Given the description of an element on the screen output the (x, y) to click on. 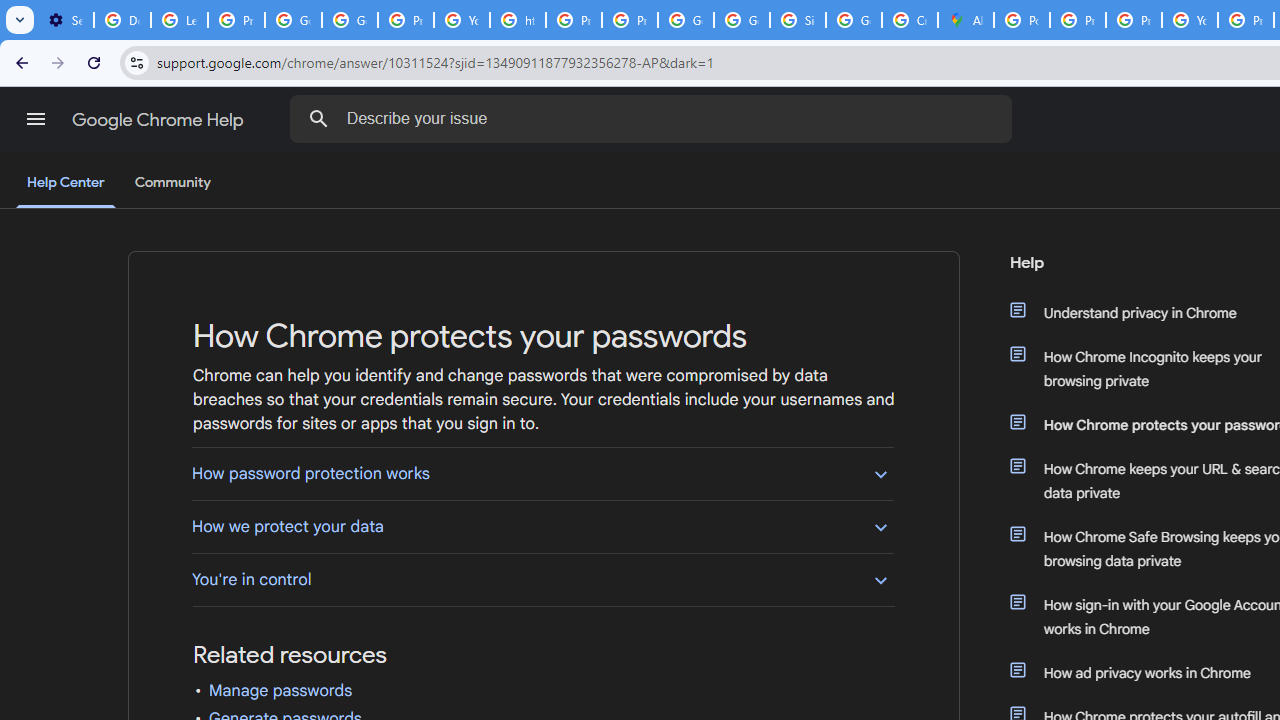
Delete photos & videos - Computer - Google Photos Help (122, 20)
Privacy Help Center - Policies Help (1077, 20)
Describe your issue (653, 118)
Settings - On startup (65, 20)
YouTube (461, 20)
Policy Accountability and Transparency - Transparency Center (1021, 20)
Learn how to find your photos - Google Photos Help (179, 20)
Google Account Help (349, 20)
Help Center (65, 183)
